Given the description of an element on the screen output the (x, y) to click on. 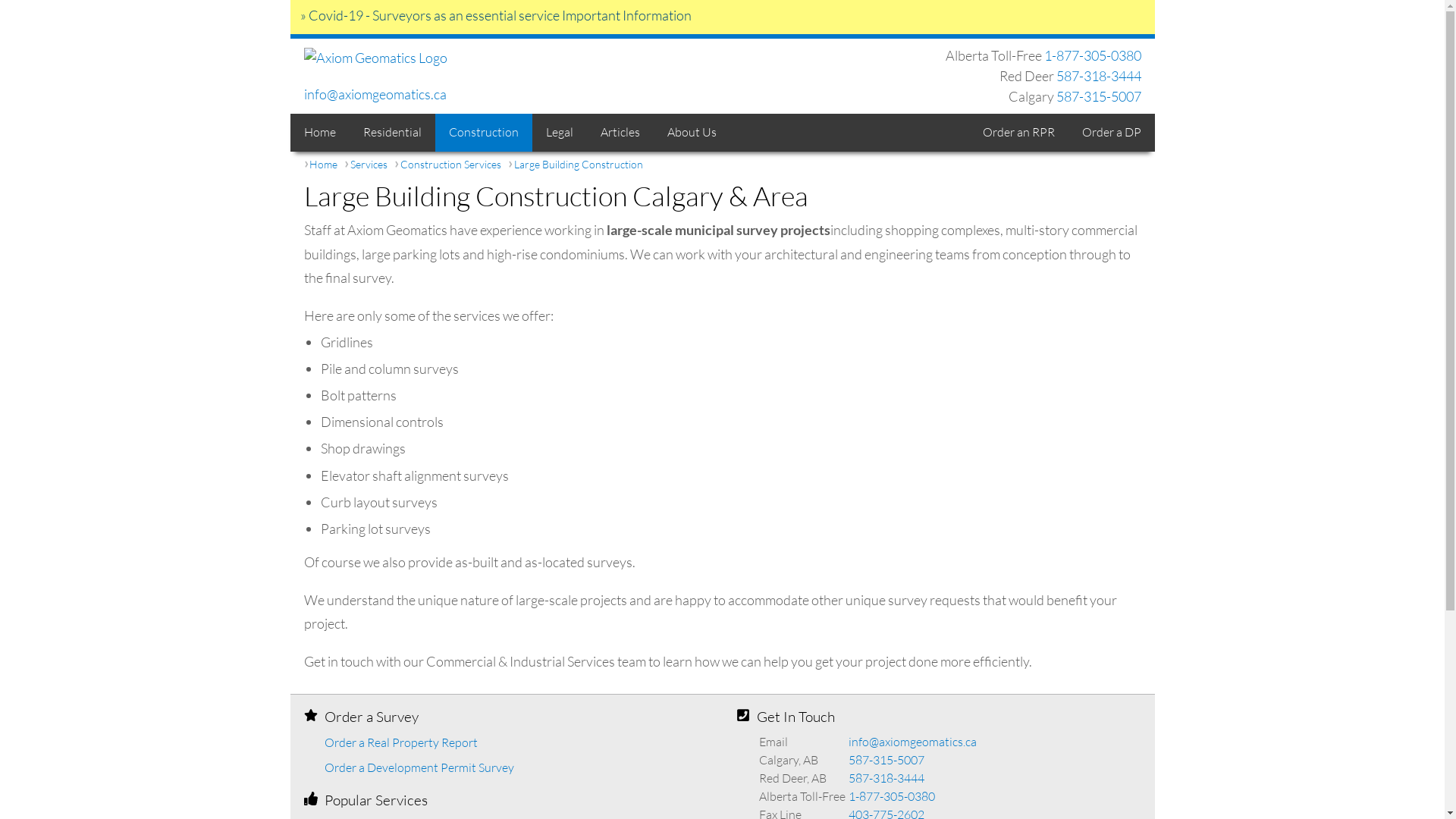
587-315-5007 Element type: text (885, 760)
Construction Services Element type: text (450, 164)
Home Element type: text (323, 164)
Home Element type: text (318, 132)
Order a Development Permit Survey Element type: text (419, 767)
Order an RPR Element type: text (1018, 132)
1-877-305-0380 Element type: text (890, 796)
587-315-5007 Element type: text (1097, 96)
Services Element type: text (368, 164)
Articles Element type: text (619, 132)
info@axiomgeomatics.ca Element type: text (374, 94)
Order a Real Property Report Element type: text (400, 742)
Order a DP Element type: text (1110, 132)
Large Building Construction Element type: text (578, 164)
Residential Element type: text (391, 132)
587-318-3444 Element type: text (885, 778)
Construction Element type: text (483, 132)
Legal Element type: text (559, 132)
587-318-3444 Element type: text (1097, 75)
About Us Element type: text (691, 132)
1-877-305-0380 Element type: text (1091, 55)
info@axiomgeomatics.ca Element type: text (911, 741)
